Given the description of an element on the screen output the (x, y) to click on. 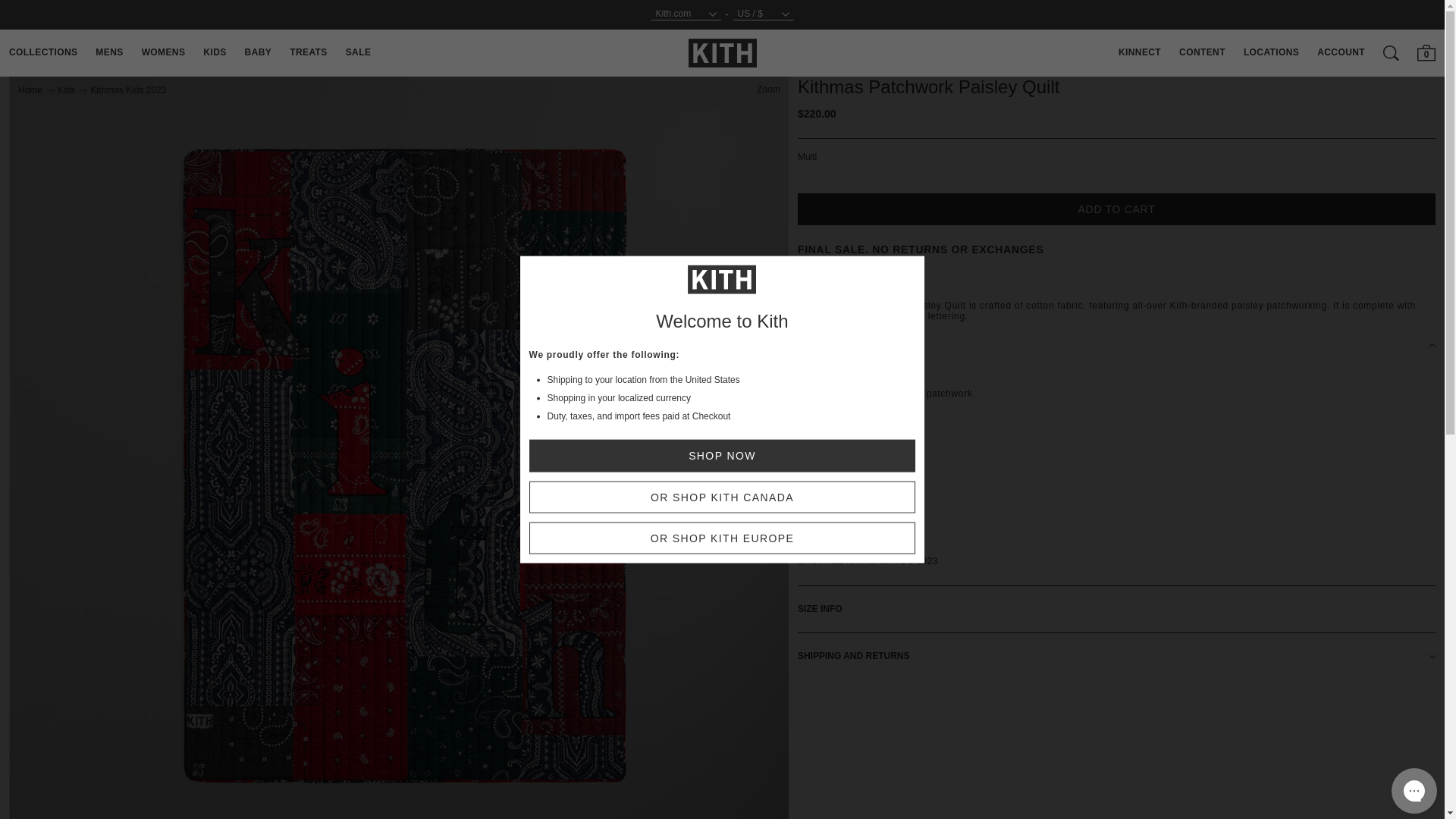
Kith (722, 52)
KITH LOGO (722, 52)
